Given the description of an element on the screen output the (x, y) to click on. 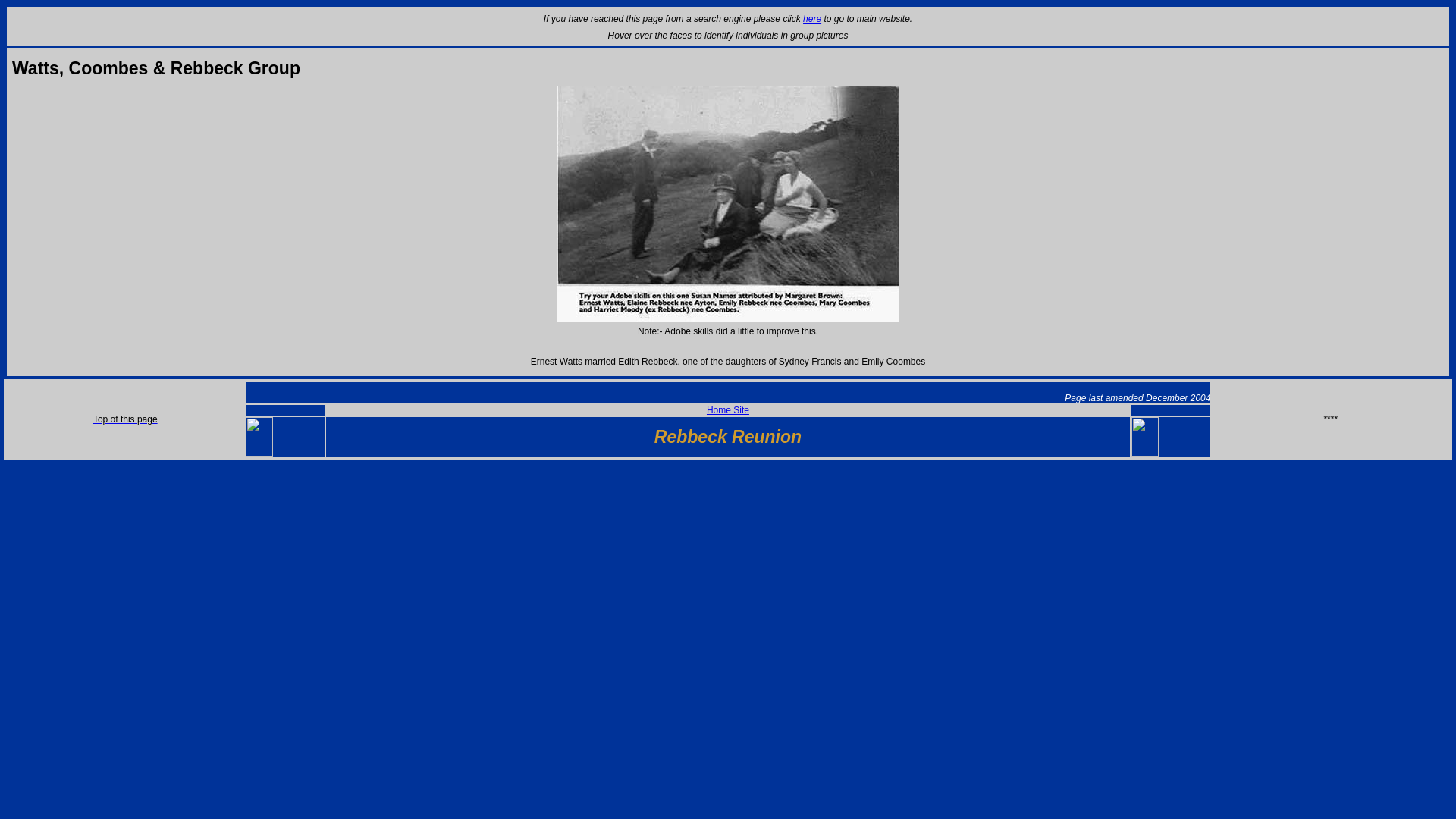
here (812, 18)
Top of this page (125, 419)
Home Site (727, 409)
